Given the description of an element on the screen output the (x, y) to click on. 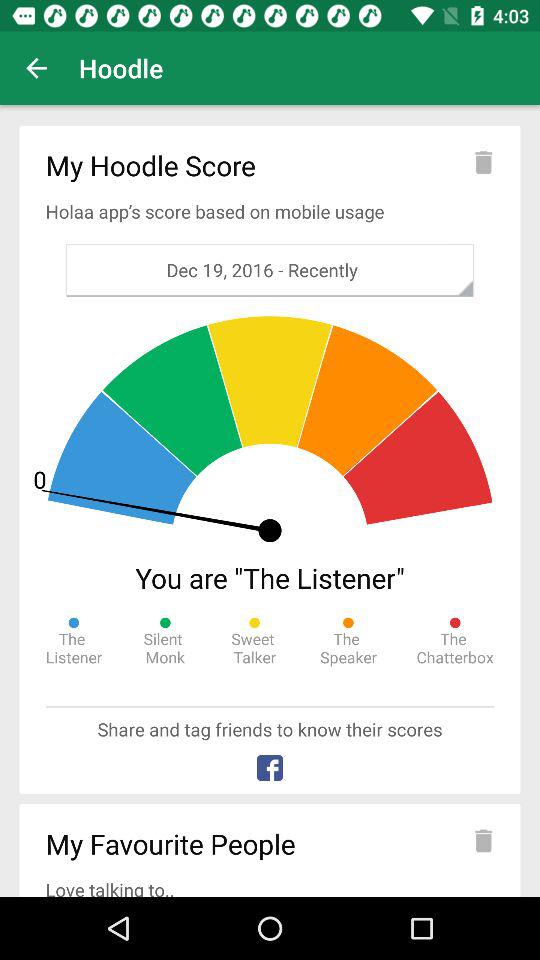
delete current score (483, 162)
